Given the description of an element on the screen output the (x, y) to click on. 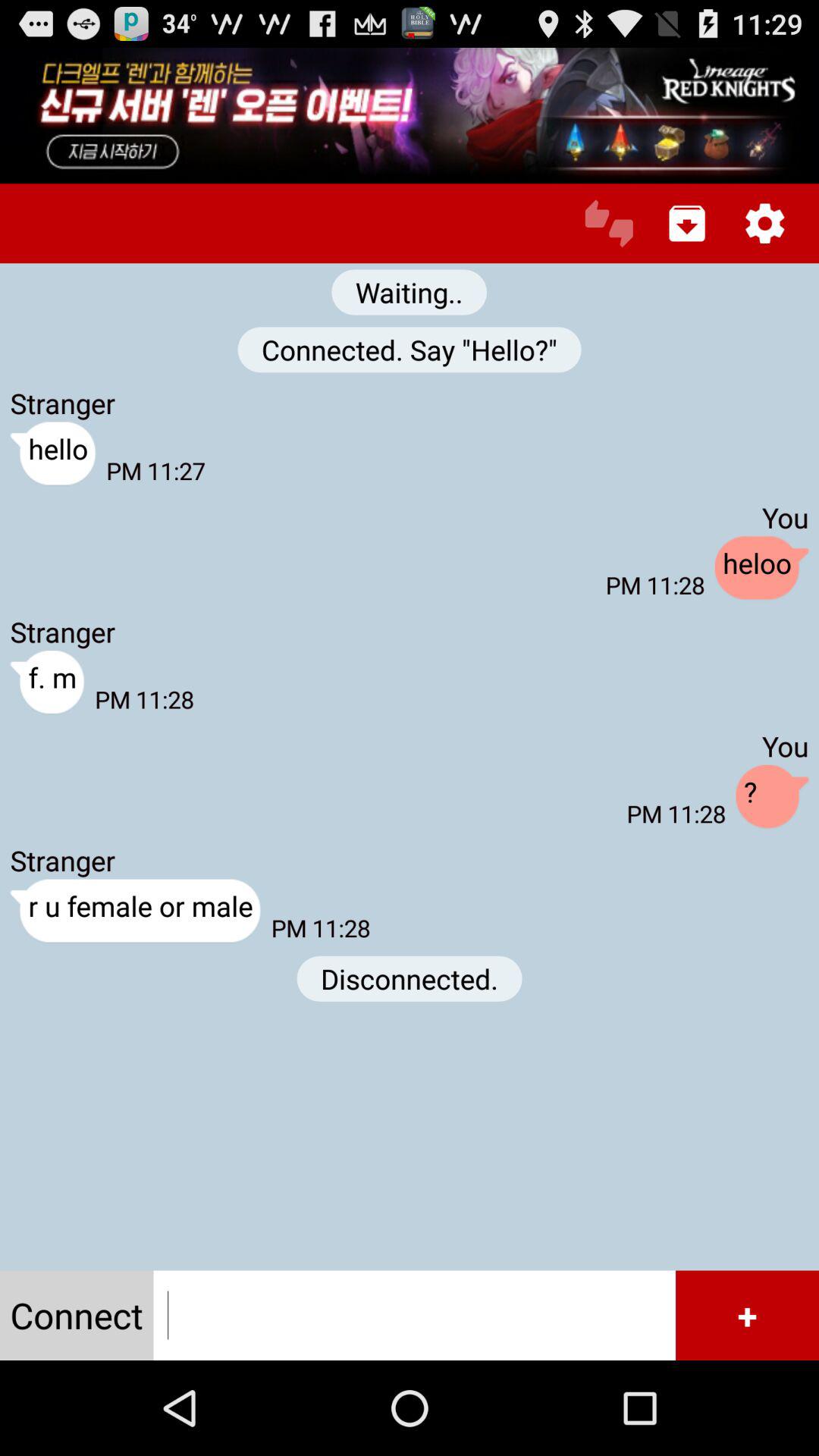
input a contact to connect with (414, 1315)
